Given the description of an element on the screen output the (x, y) to click on. 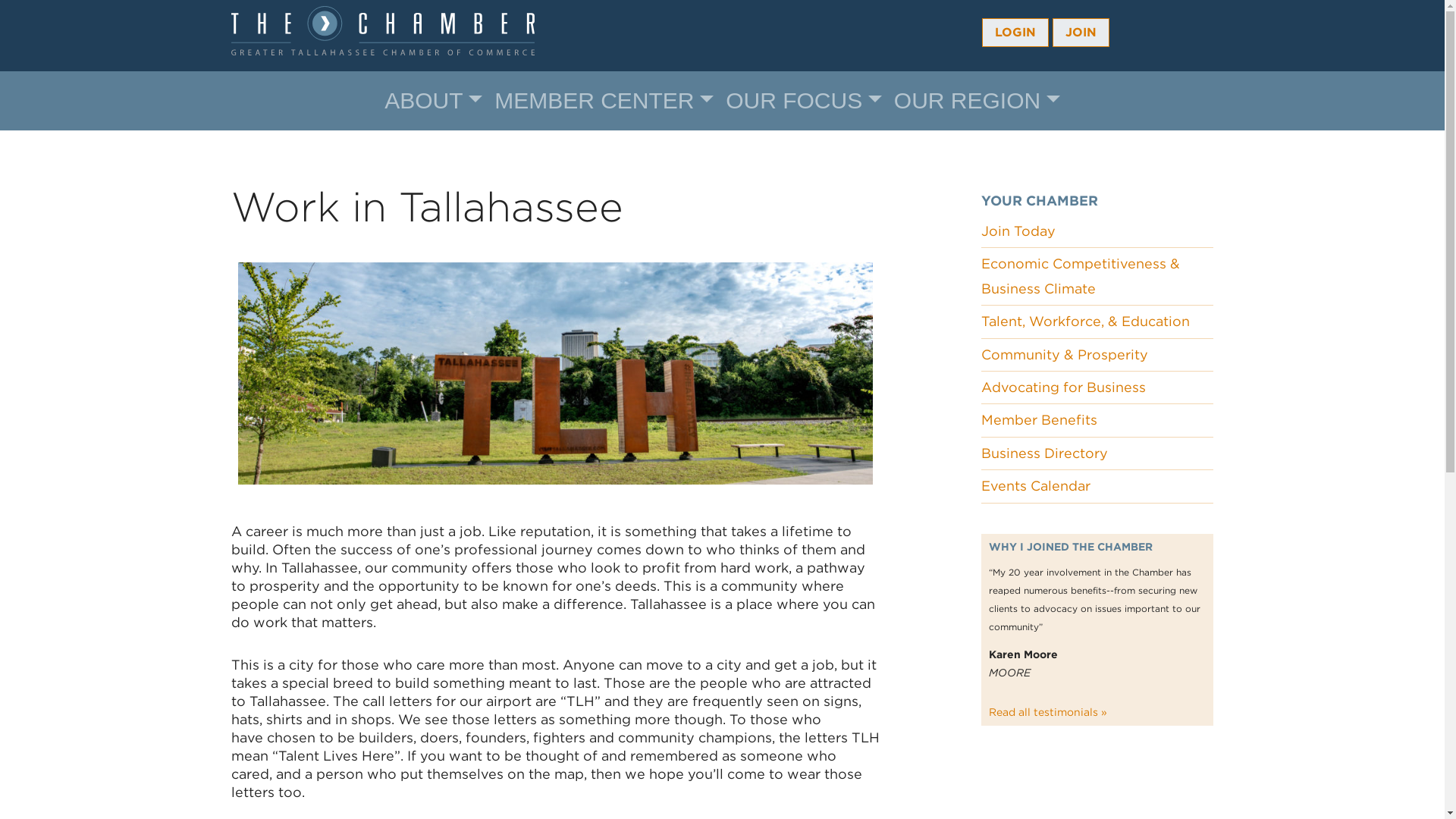
JOIN (1080, 32)
Member Center (603, 100)
LOGIN (1014, 32)
MEMBER CENTER (603, 100)
About (432, 100)
ABOUT (432, 100)
